Given the description of an element on the screen output the (x, y) to click on. 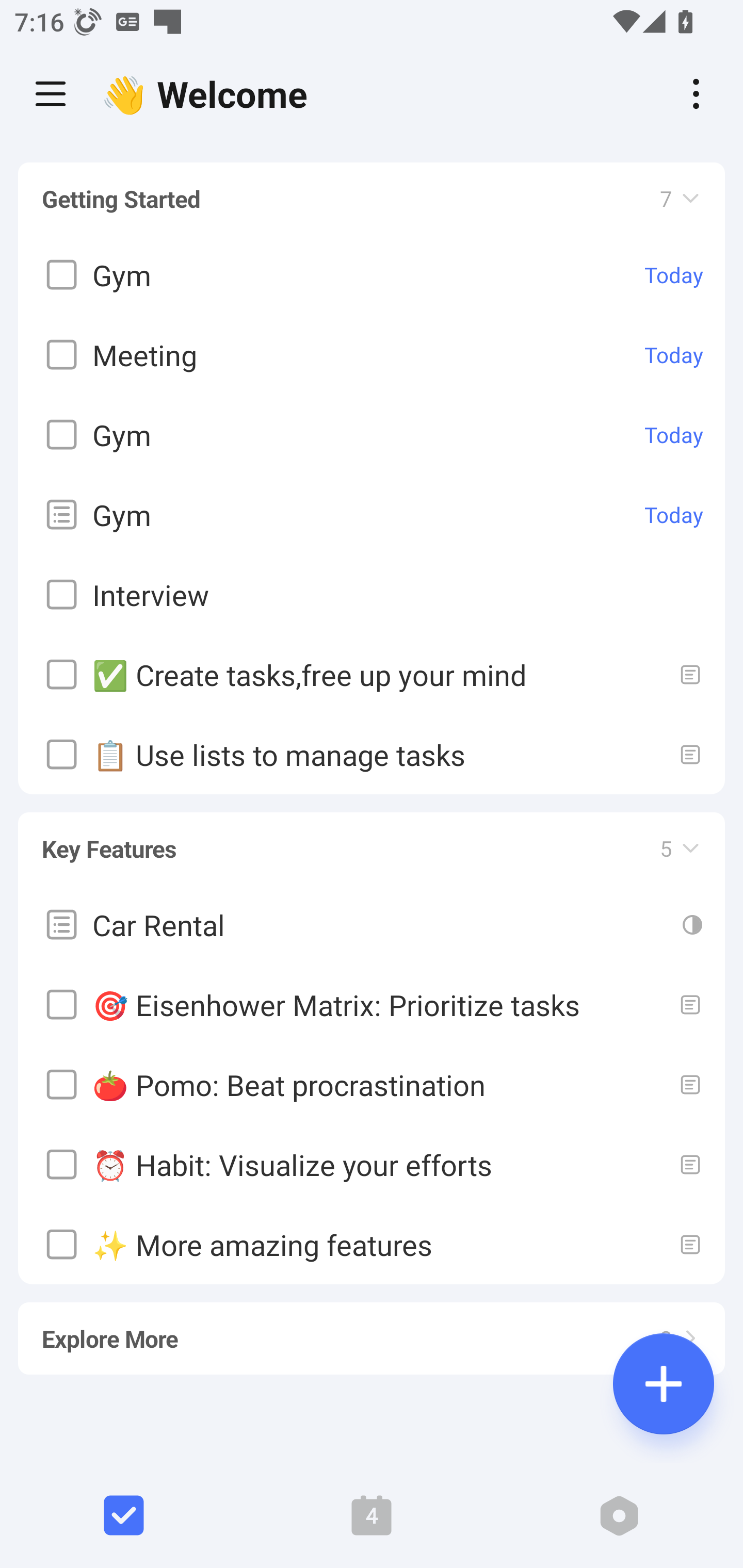
👋 Welcome (209, 93)
Getting Started 7 (371, 199)
Gym Today (371, 275)
Today (673, 275)
Meeting Today (371, 355)
Today (673, 355)
Gym Today (371, 435)
Today (673, 435)
Gym Today (371, 515)
Today (673, 514)
Interview (371, 595)
✅ Create tasks,free up your mind (371, 675)
📋 Use lists to manage tasks (371, 754)
Key Features 5 (371, 839)
Car Rental (371, 924)
🎯 Eisenhower Matrix: Prioritize tasks (371, 1004)
🍅 Pomo: Beat procrastination (371, 1084)
⏰ Habit: Visualize your efforts (371, 1164)
✨ More amazing features (371, 1244)
Explore More 2 (371, 1329)
